Given the description of an element on the screen output the (x, y) to click on. 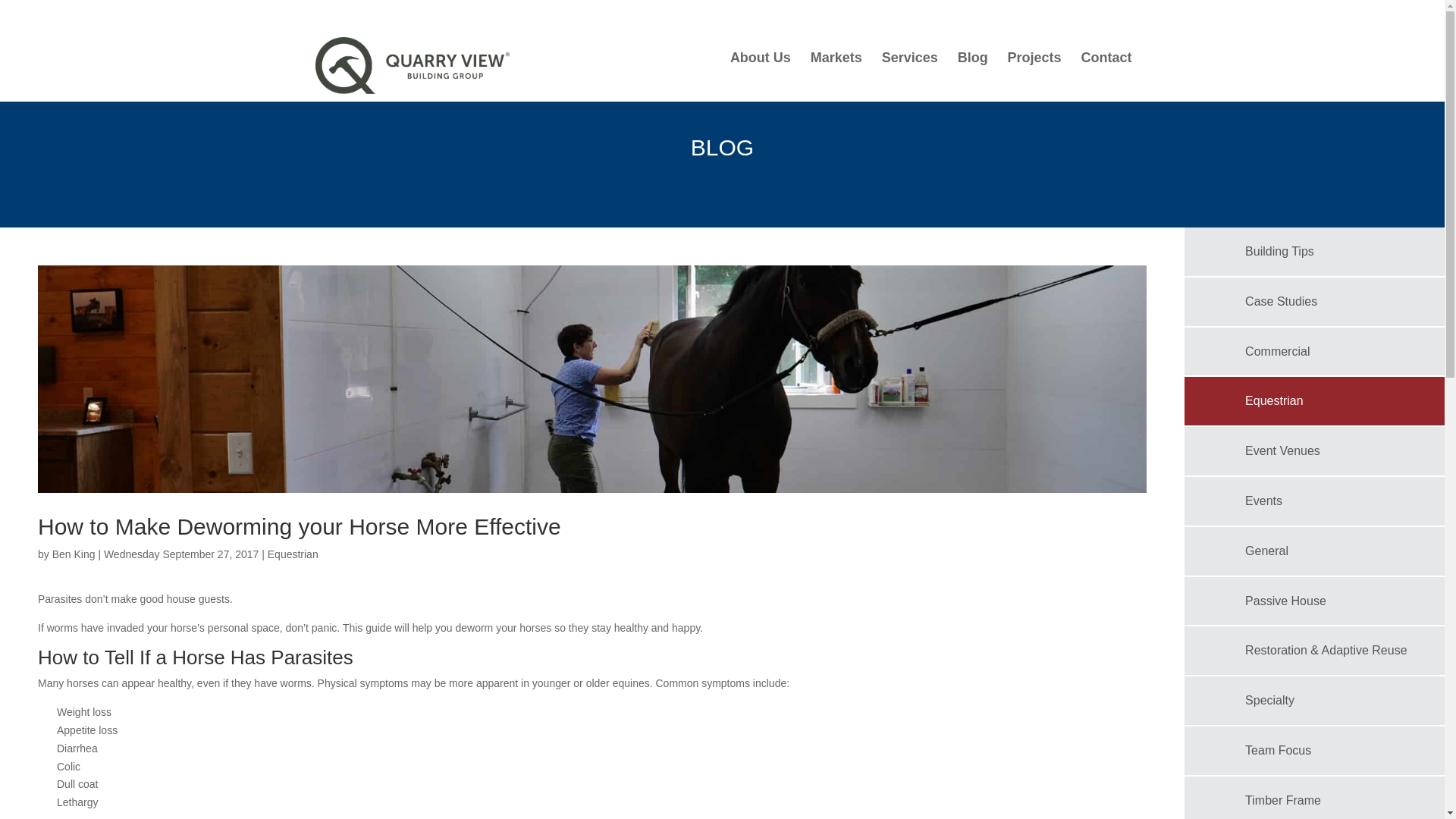
Quarry View Building Group (412, 64)
Services (909, 69)
Contact (1106, 69)
Markets (835, 69)
Projects (1034, 69)
About Us (760, 69)
Equestrian (292, 553)
About Quarry View Building Group (760, 69)
Contact Quarry View Building Group in Lancaster, PA (1106, 69)
